Given the description of an element on the screen output the (x, y) to click on. 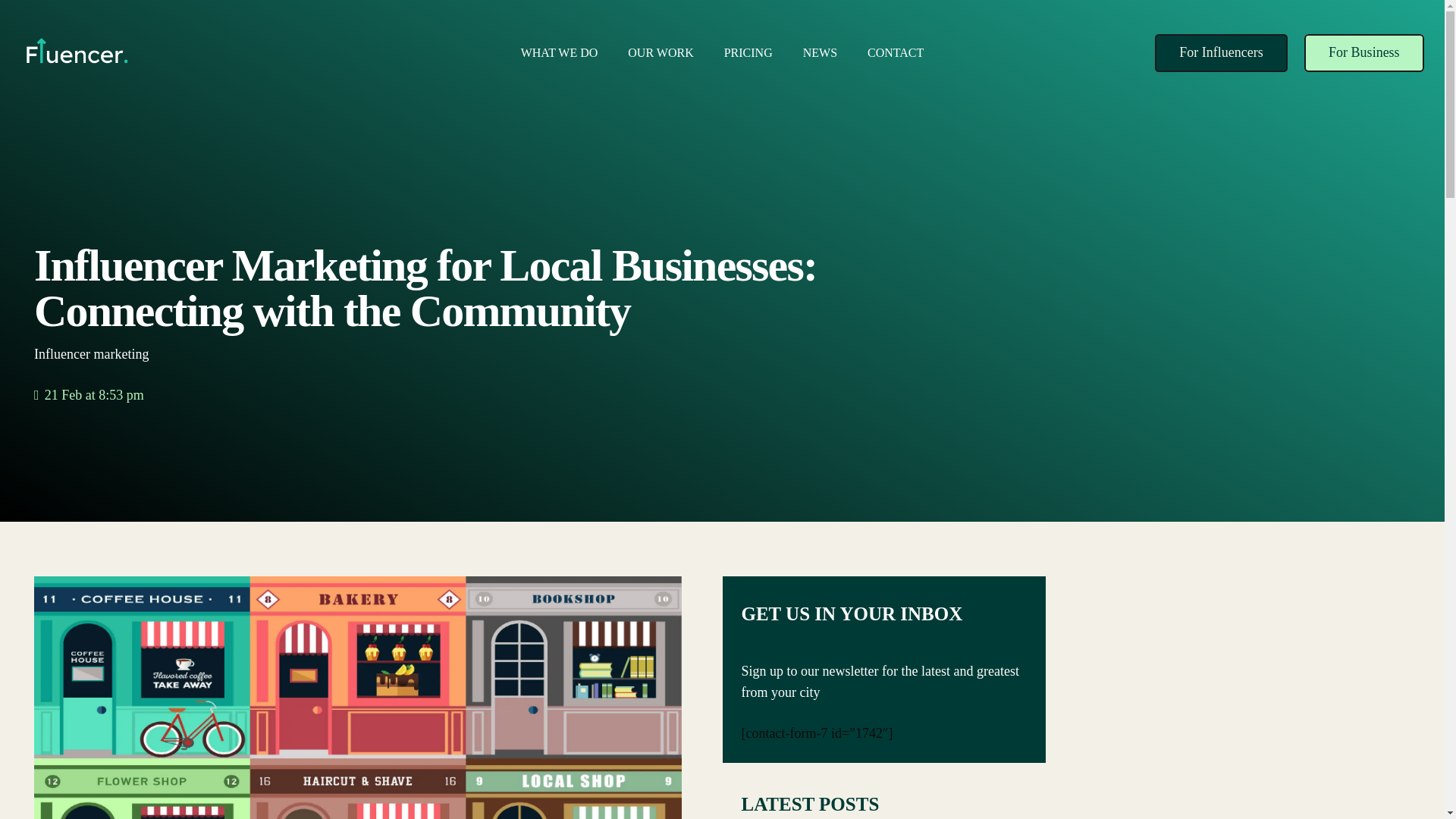
For Business (1363, 53)
OUR WORK (659, 53)
WHAT WE DO (558, 53)
For Influencers (1220, 53)
NEWS (819, 53)
CONTACT (895, 53)
PRICING (748, 53)
Influencer marketing (90, 353)
